Given the description of an element on the screen output the (x, y) to click on. 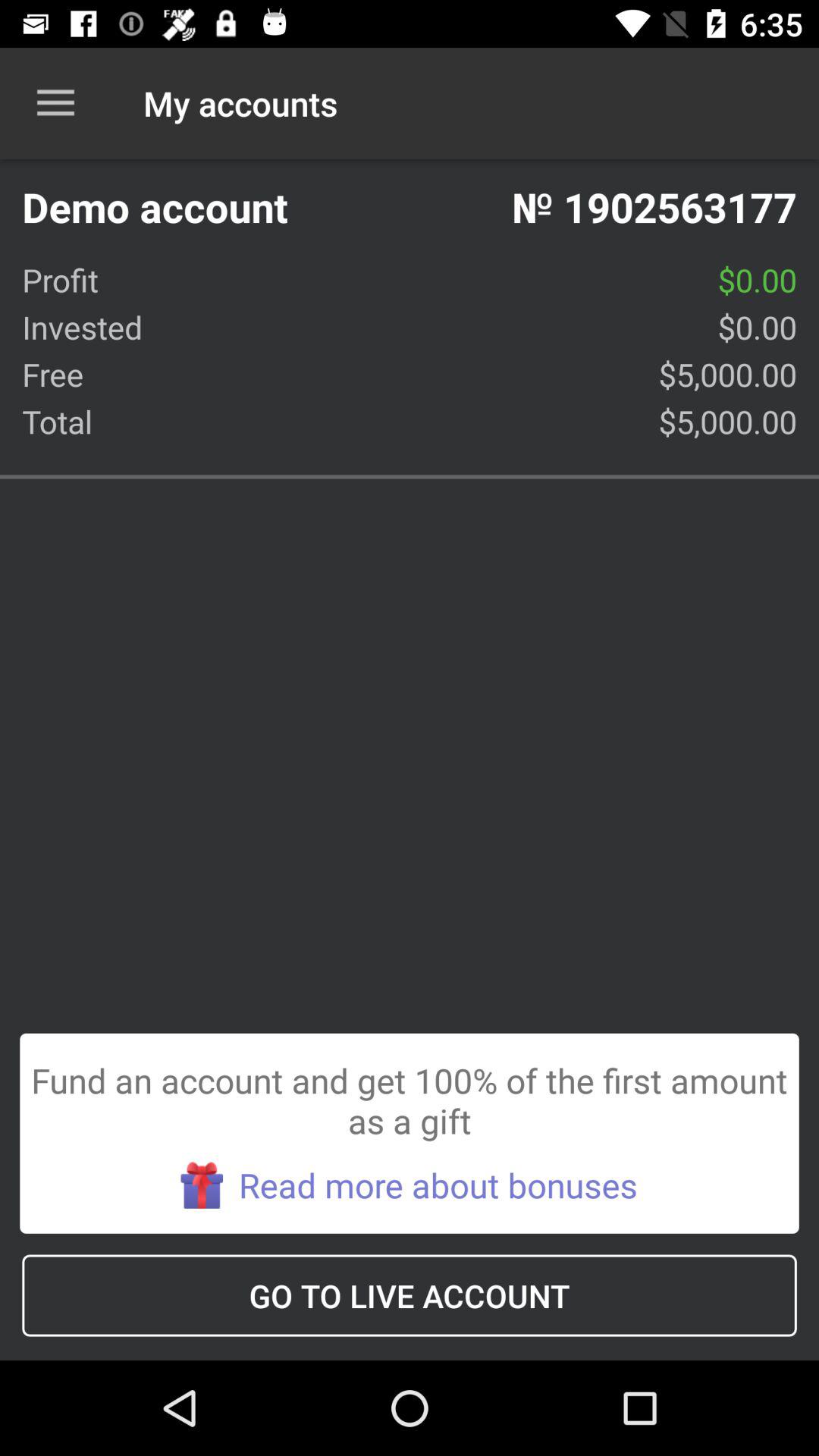
press item above the demo account item (55, 103)
